Given the description of an element on the screen output the (x, y) to click on. 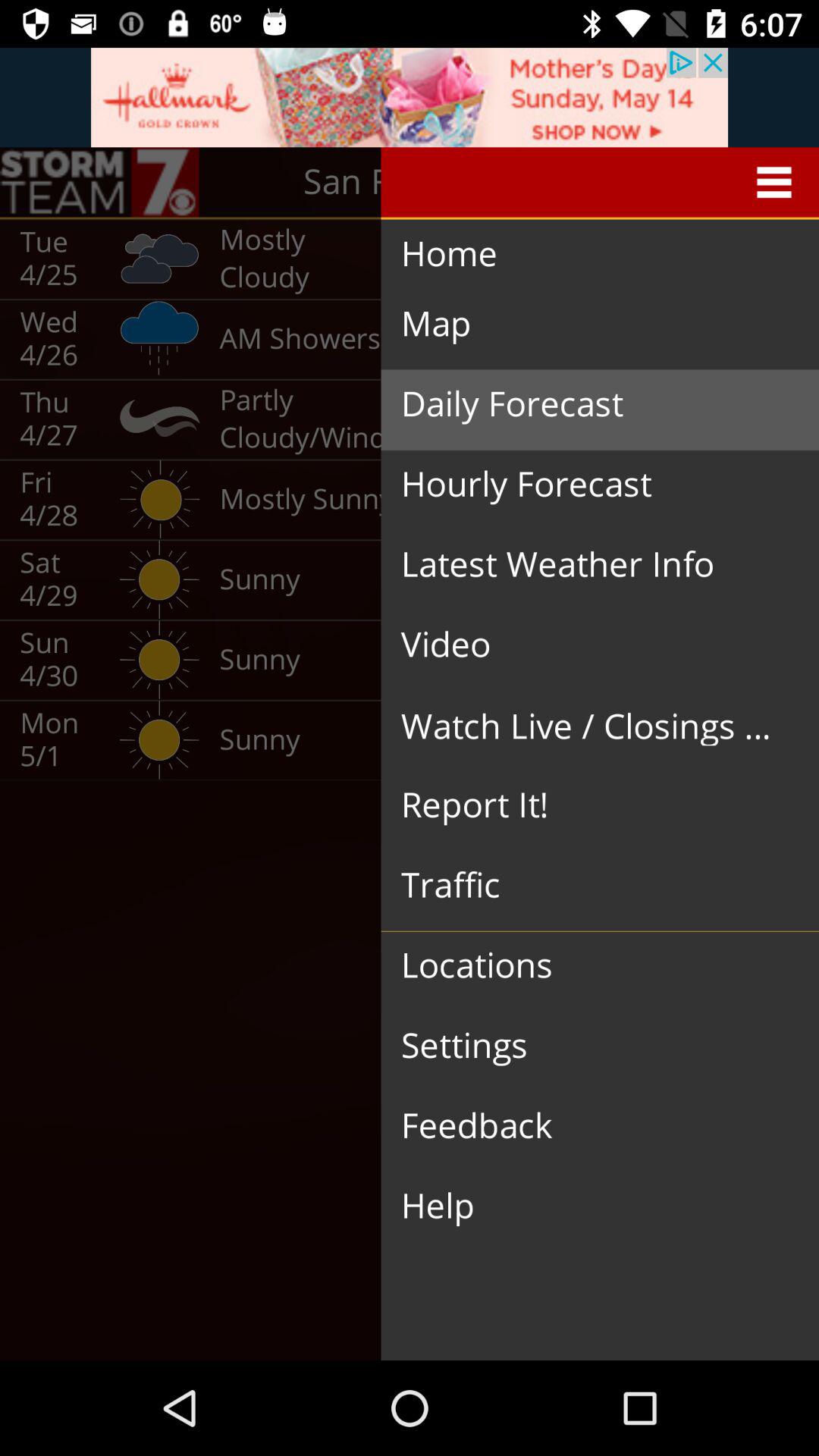
select latest weather info item (587, 564)
